Given the description of an element on the screen output the (x, y) to click on. 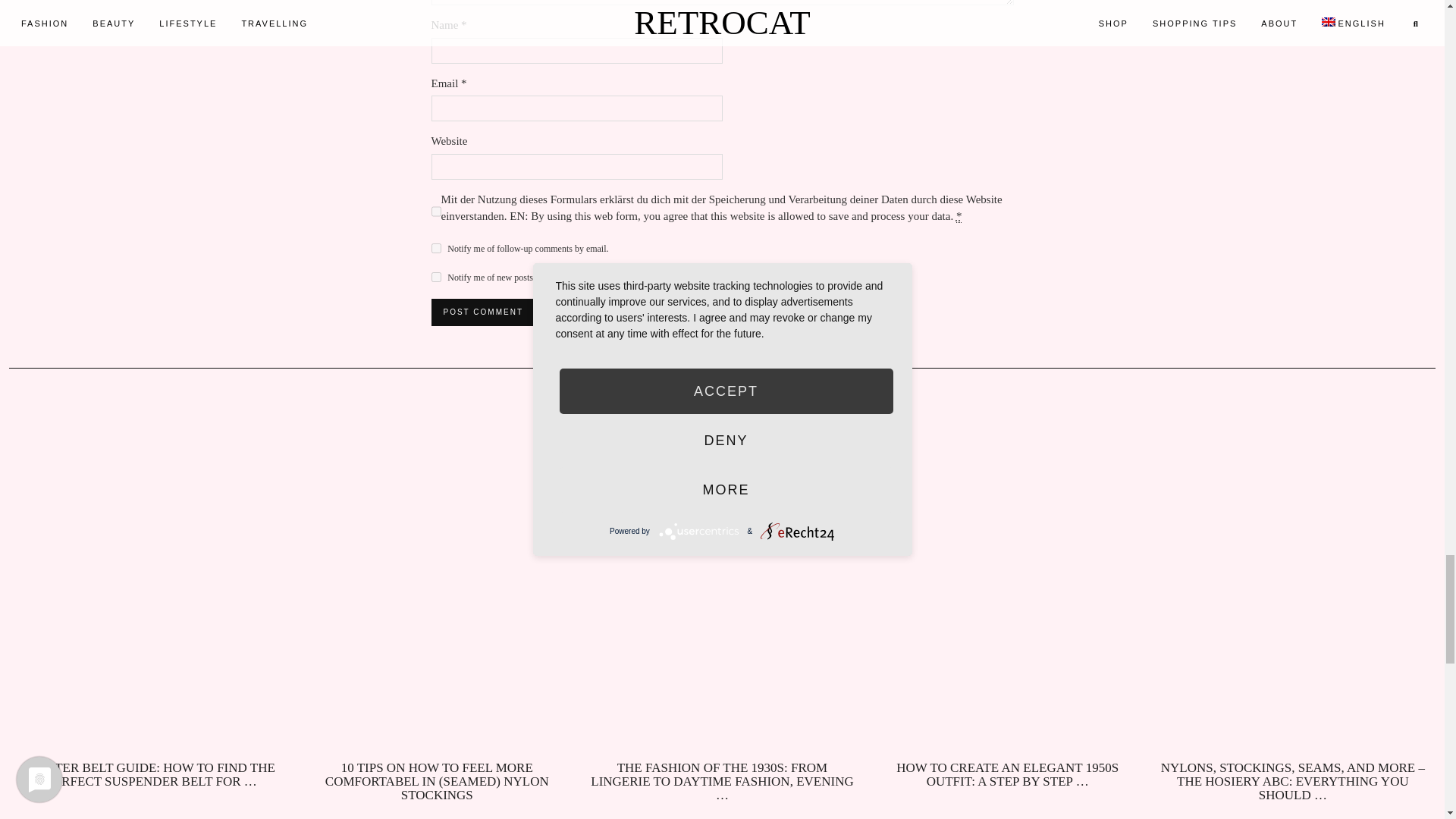
subscribe (435, 276)
subscribe (435, 248)
Post Comment (482, 311)
